Given the description of an element on the screen output the (x, y) to click on. 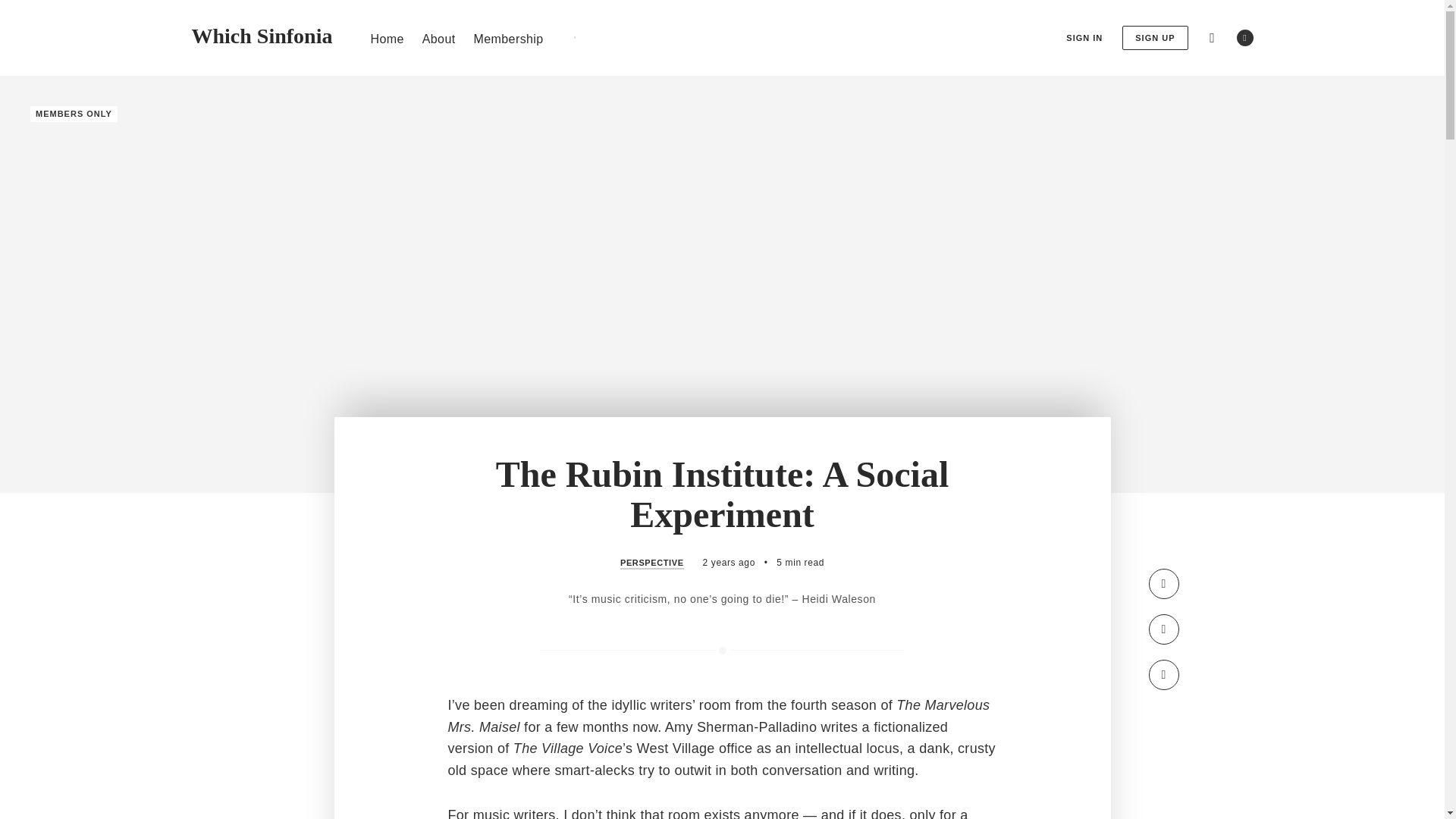
Which Sinfonia (260, 35)
PERSPECTIVE (652, 563)
SIGN UP (1155, 37)
Membership (508, 38)
About (438, 38)
Home (386, 38)
SIGN IN (1084, 37)
